Given the description of an element on the screen output the (x, y) to click on. 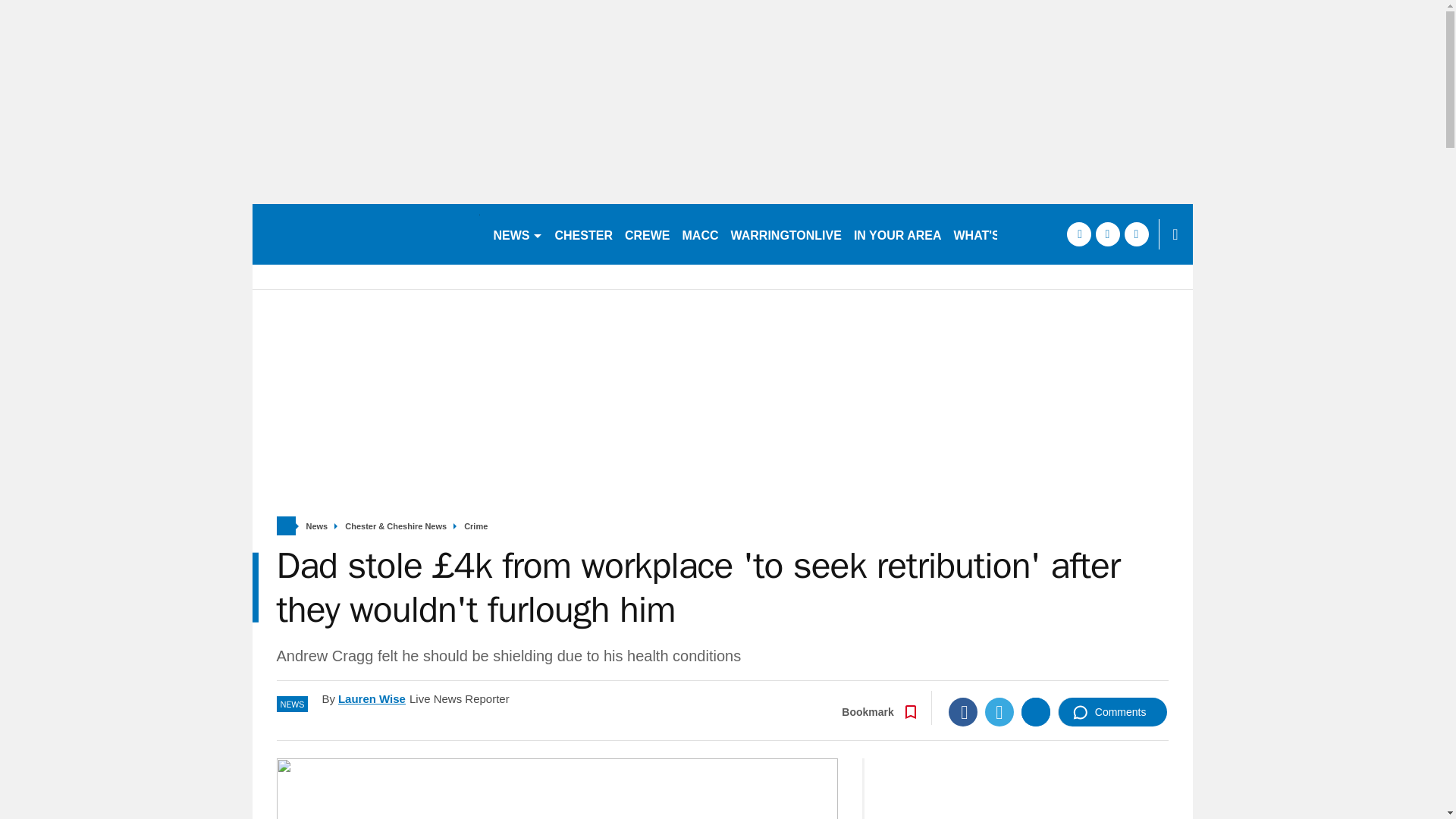
instagram (1136, 233)
facebook (1077, 233)
Facebook (962, 711)
CREWE (647, 233)
WARRINGTONLIVE (786, 233)
CHESTER (583, 233)
Comments (1112, 711)
Twitter (999, 711)
NEWS (517, 233)
WHAT'S ON (994, 233)
twitter (1106, 233)
IN YOUR AREA (897, 233)
chesterchronicle (365, 233)
